Given the description of an element on the screen output the (x, y) to click on. 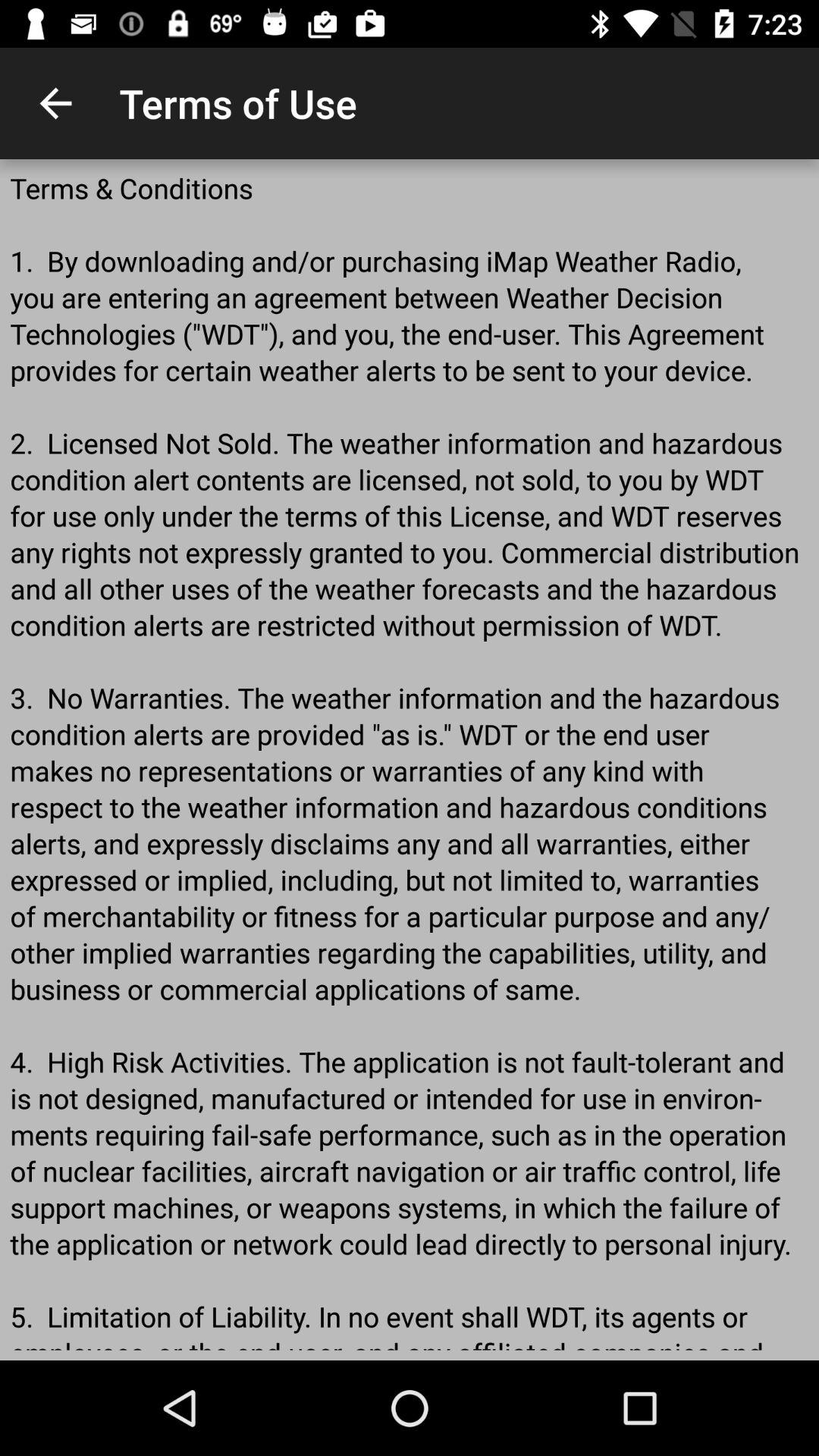
choose terms conditions 1 item (409, 759)
